Given the description of an element on the screen output the (x, y) to click on. 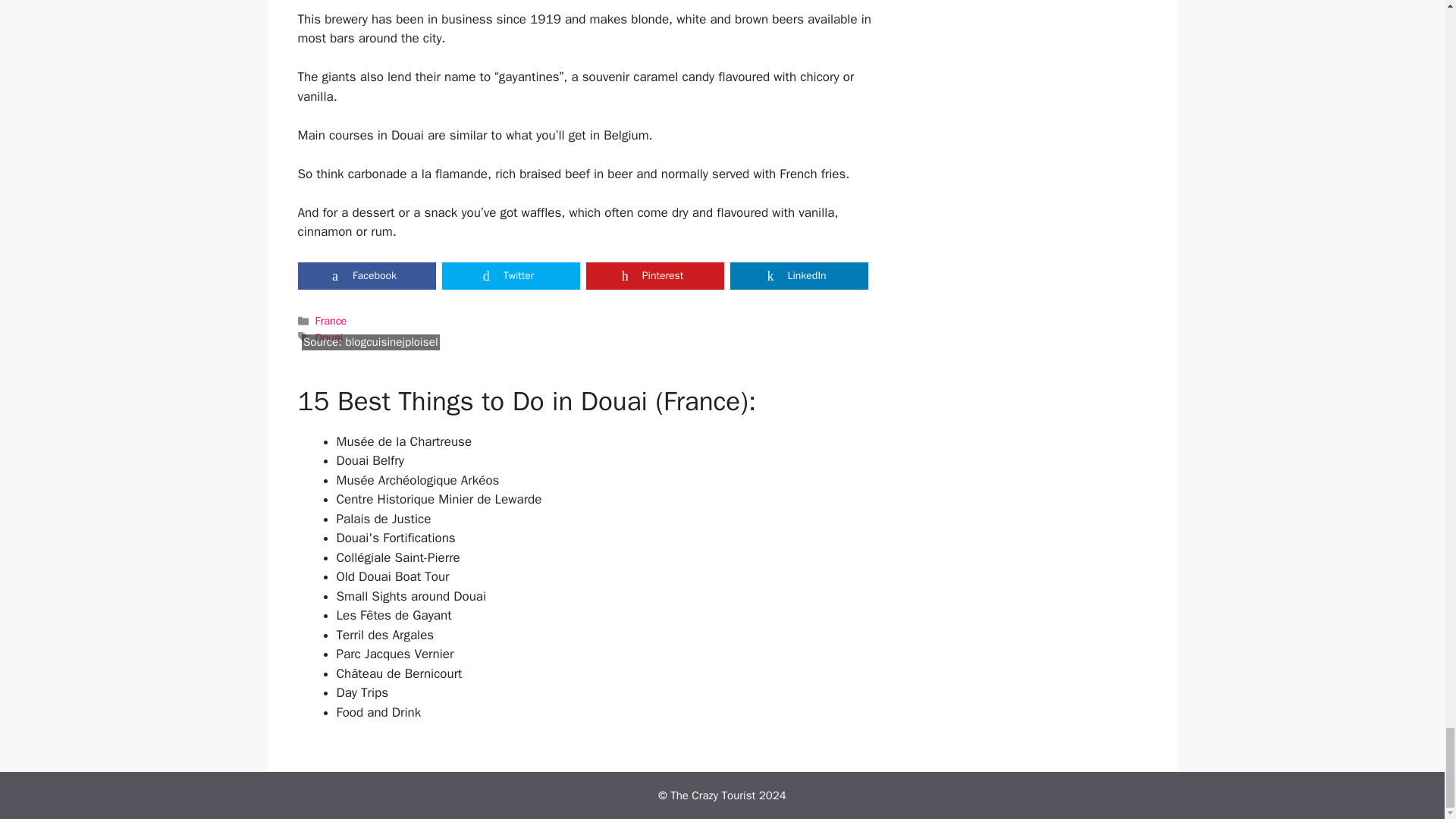
Share on Pinterest (654, 275)
Share on Facebook (366, 275)
Share on LinkedIn (798, 275)
Share on Twitter (510, 275)
